Given the description of an element on the screen output the (x, y) to click on. 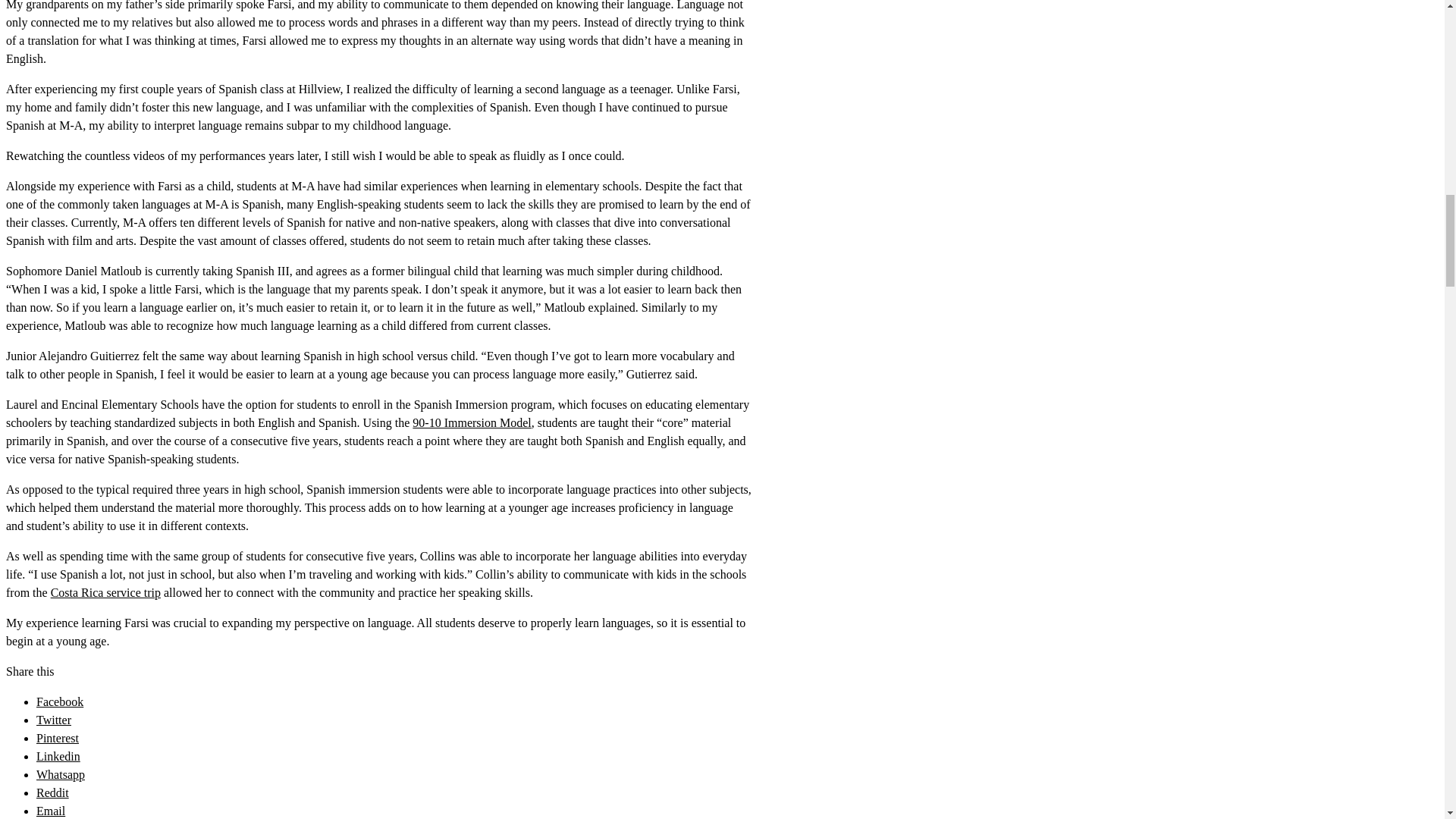
Reddit (52, 792)
Twitter (53, 719)
Whatsapp (60, 774)
Pinterest (57, 738)
Twitter (53, 719)
Facebook (59, 701)
Email (50, 810)
Linkedin (58, 756)
Facebook (59, 701)
90-10 Immersion Model (471, 422)
Whatsapp (60, 774)
Pinterest (57, 738)
Costa Rica service trip (105, 592)
Email (50, 810)
Reddit (52, 792)
